Given the description of an element on the screen output the (x, y) to click on. 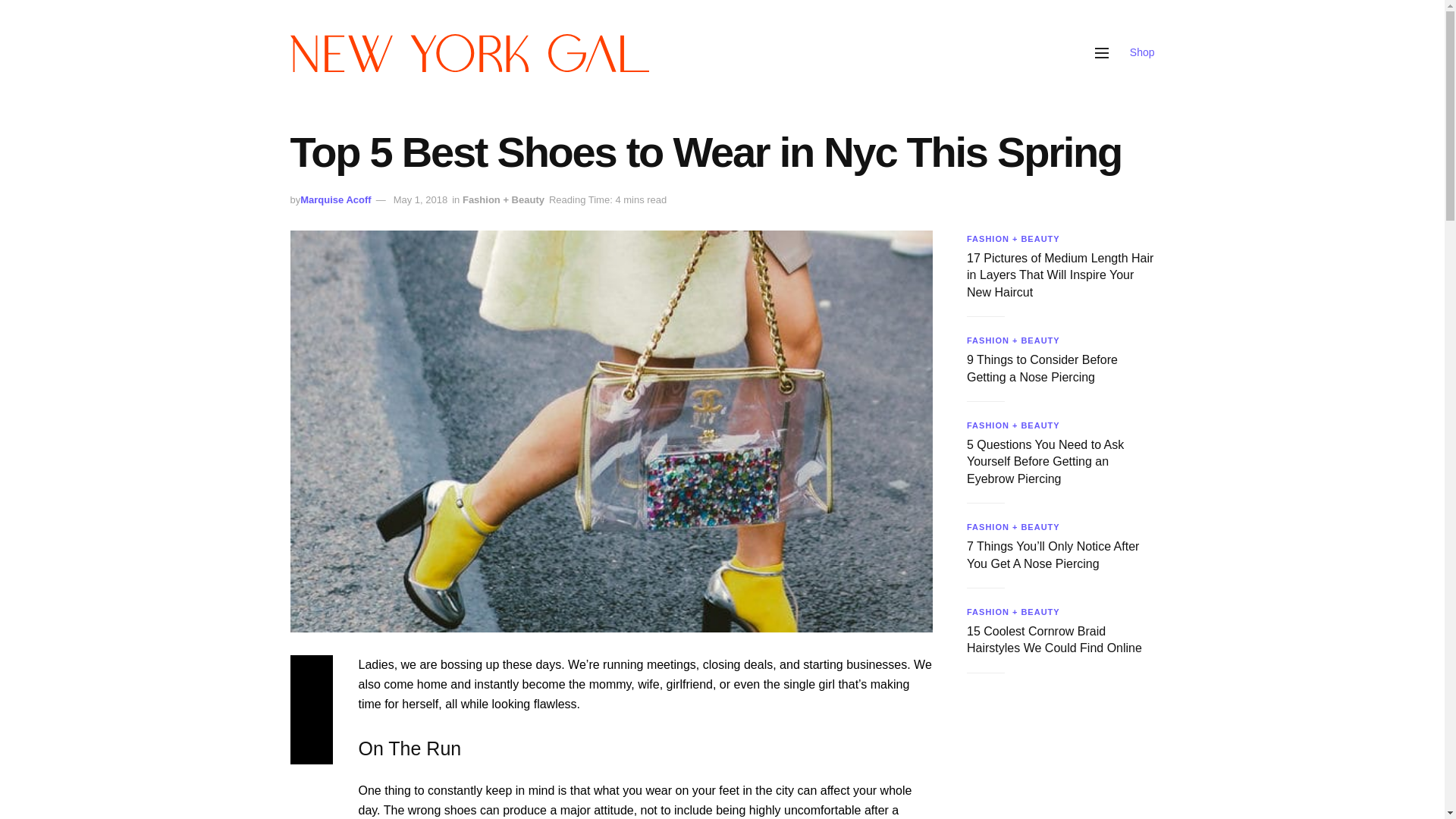
Marquise Acoff (335, 199)
May 1, 2018 (420, 199)
Shop (1141, 51)
9 Things to Consider Before Getting a Nose Piercing (1042, 367)
